Given the description of an element on the screen output the (x, y) to click on. 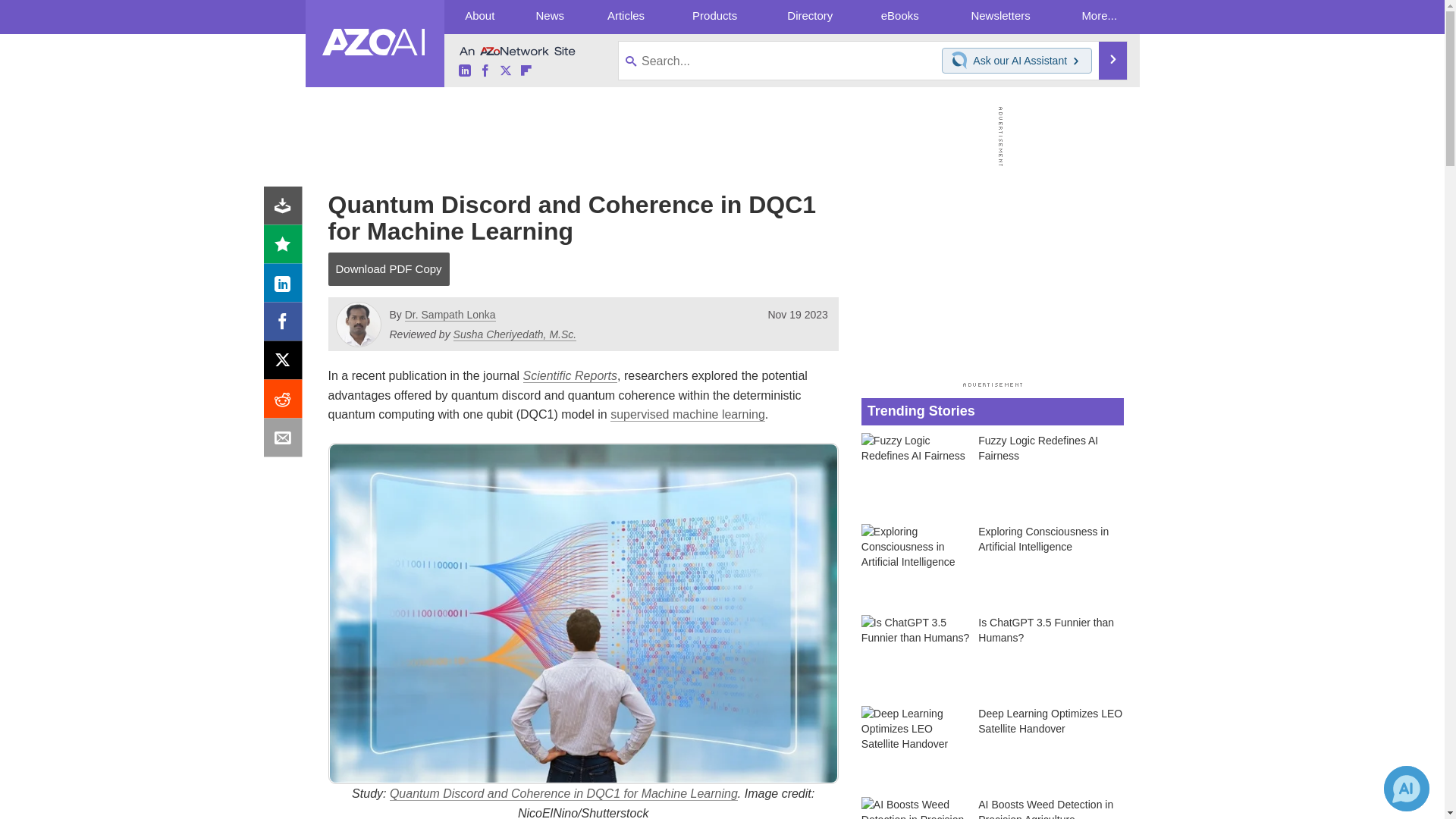
Twitter (505, 71)
Facebook (285, 324)
About (479, 17)
Articles (625, 17)
X (285, 363)
Download PDF Copy (387, 268)
Facebook (485, 71)
LinkedIn (285, 286)
Email (285, 441)
More... (1099, 17)
